Given the description of an element on the screen output the (x, y) to click on. 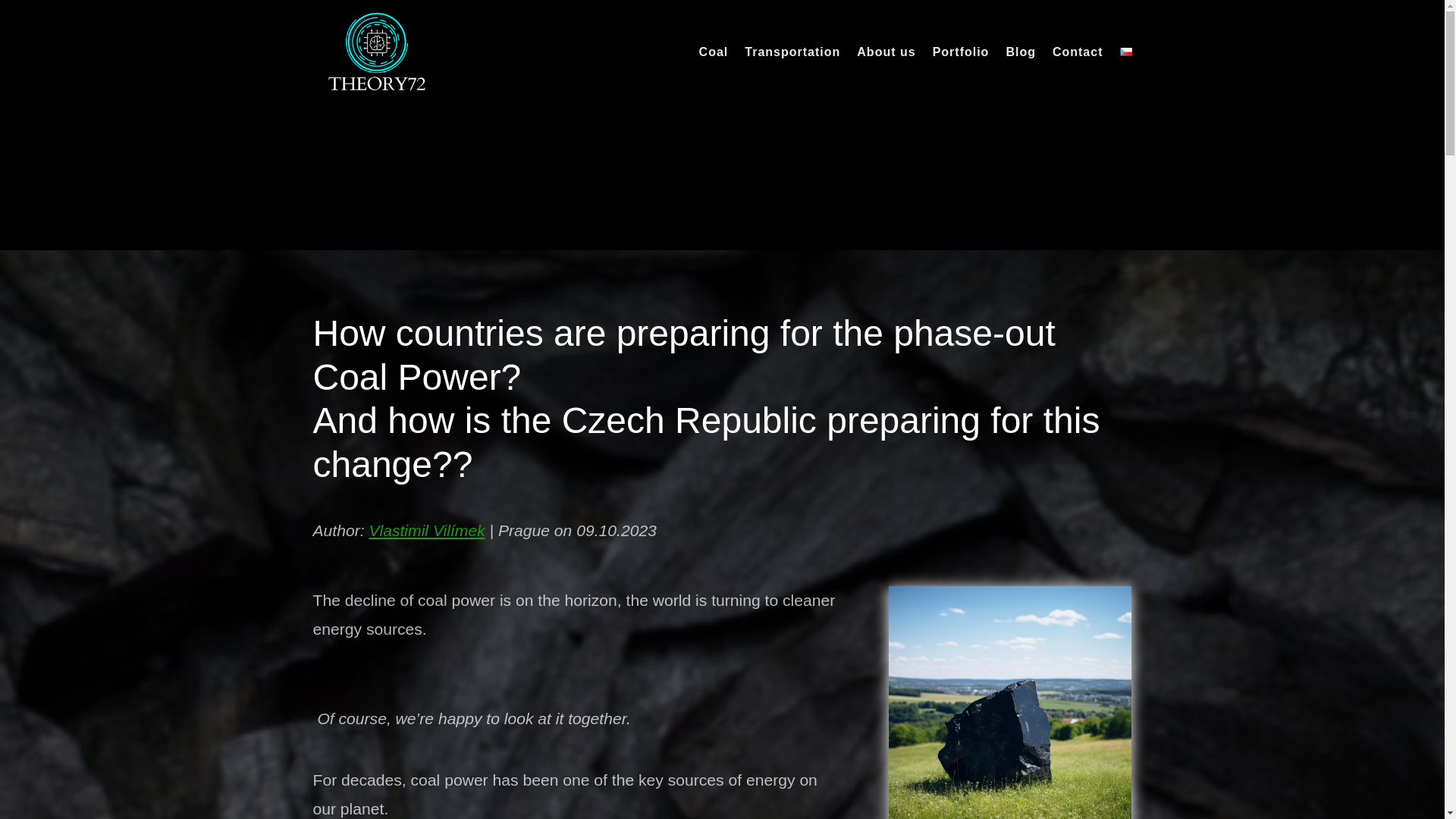
image-user86742-1696530690tfBb7 (1009, 702)
About us (886, 75)
Coal (713, 75)
Portfolio (961, 75)
Blog (1020, 75)
Transportation (792, 75)
Contact (1077, 75)
